Given the description of an element on the screen output the (x, y) to click on. 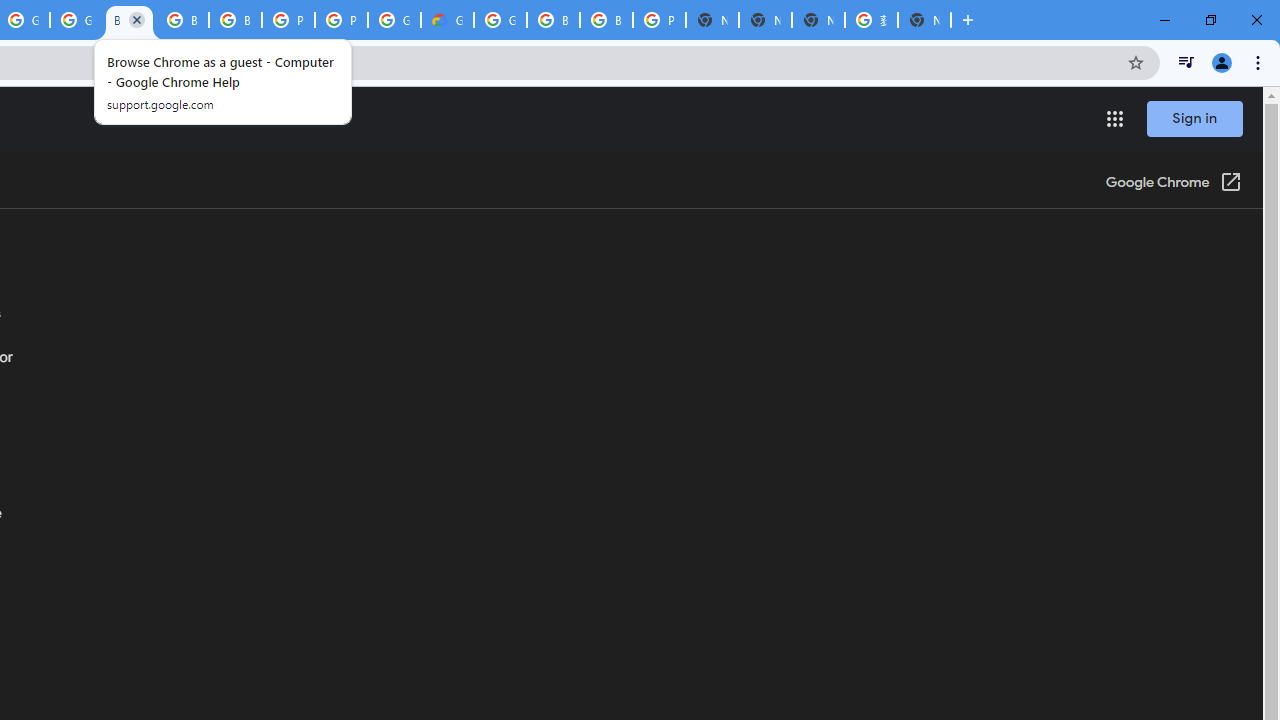
Google Chrome (Open in a new window) (1173, 183)
Google Cloud Estimate Summary (447, 20)
